Given the description of an element on the screen output the (x, y) to click on. 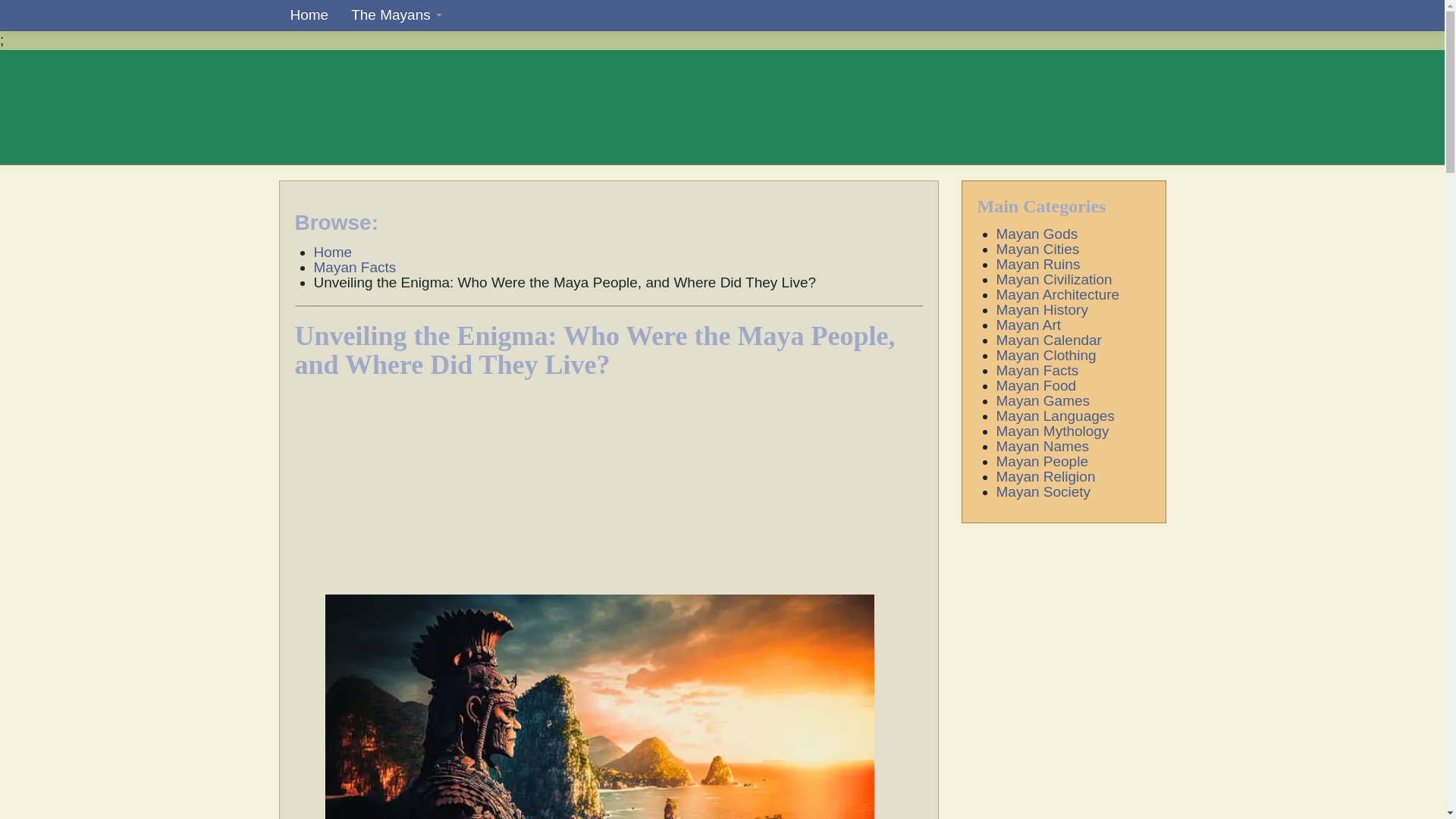
The Mayans (395, 15)
Mayan Cities (1037, 248)
Mayan Facts (355, 267)
Mayan Ruins (1037, 263)
Home (309, 15)
Mayan Architecture (1057, 294)
Mayan Civilization (1053, 279)
Home (333, 252)
Mayan Gods (1036, 233)
